Given the description of an element on the screen output the (x, y) to click on. 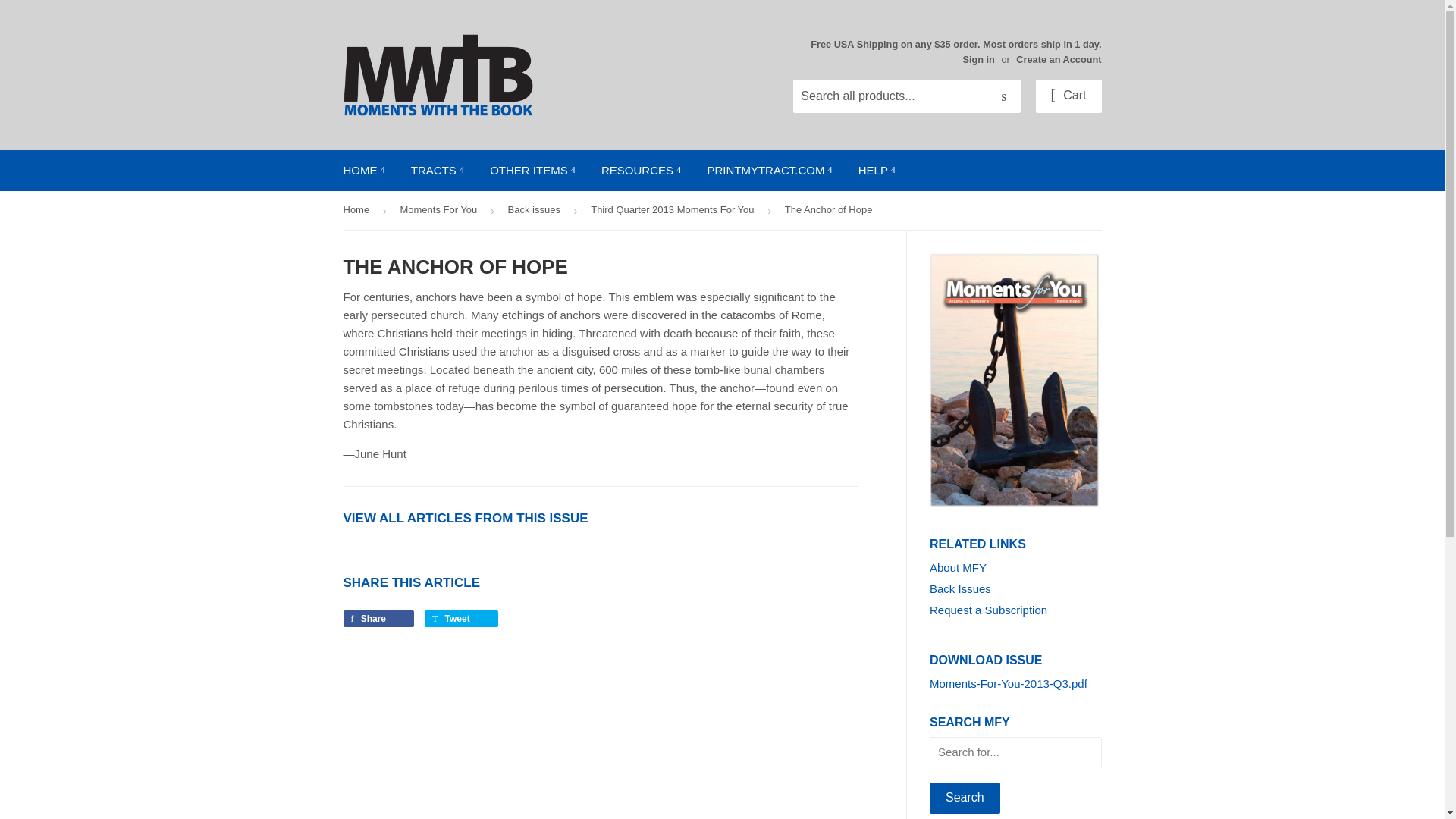
RESOURCES (641, 169)
TRACTS (437, 169)
Search (965, 798)
OTHER ITEMS (532, 169)
Create an Account (1058, 59)
Cart (1068, 96)
Search (1003, 97)
PRINTMYTRACT.COM (769, 169)
Sign in (978, 59)
HOME (363, 169)
